Given the description of an element on the screen output the (x, y) to click on. 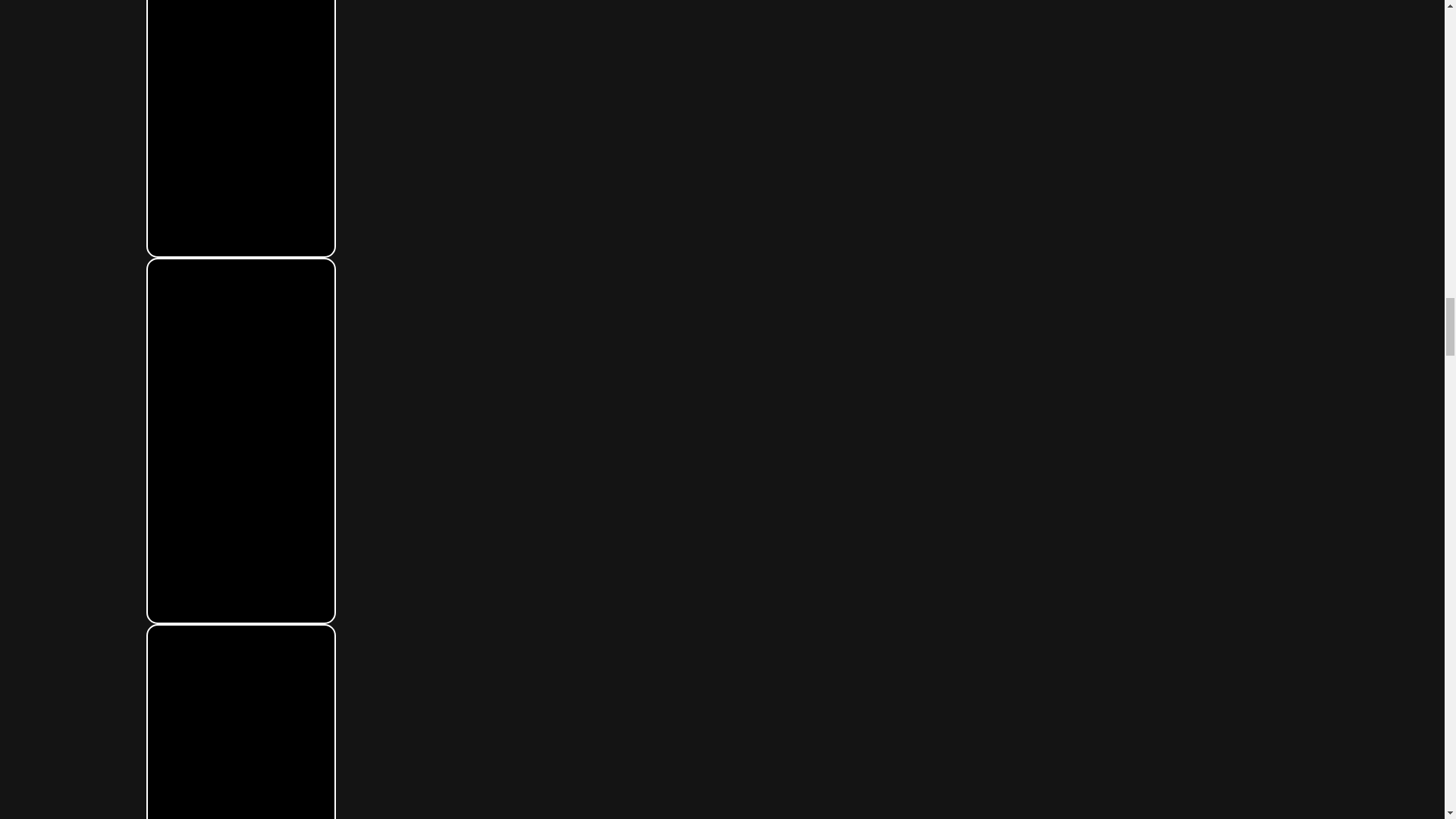
Join RA MA LIFE (240, 722)
